Given the description of an element on the screen output the (x, y) to click on. 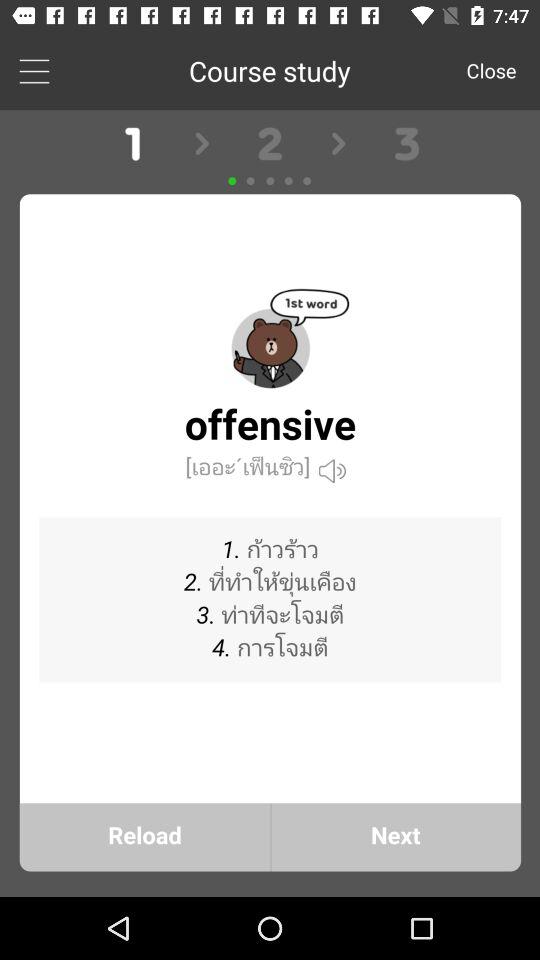
open menu (33, 70)
